Given the description of an element on the screen output the (x, y) to click on. 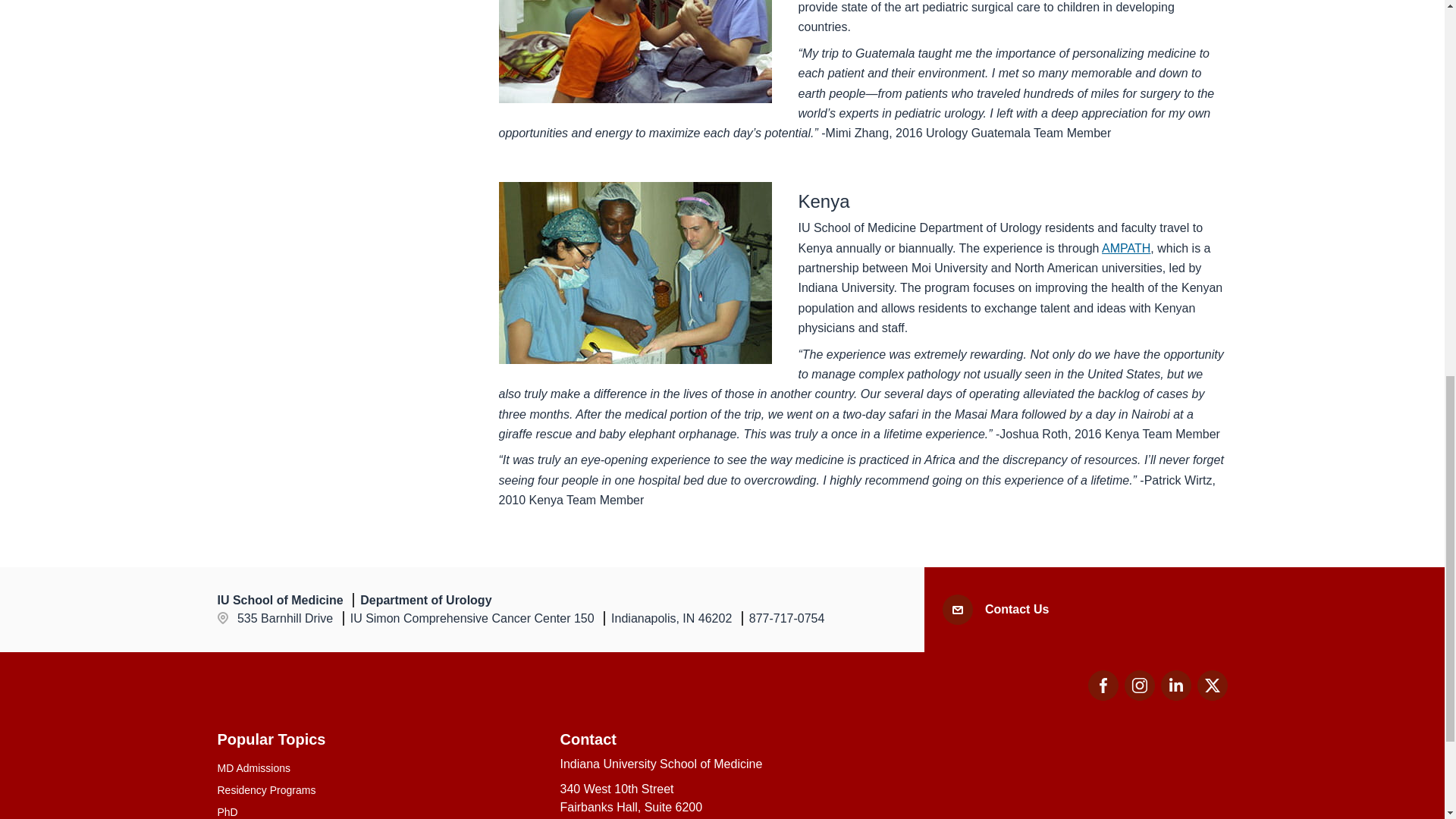
Contact Us (1016, 609)
AMPATH (1102, 696)
Twitter (1175, 696)
Instagram (1139, 696)
MD Admissions (1126, 247)
PhD (1211, 685)
